Given the description of an element on the screen output the (x, y) to click on. 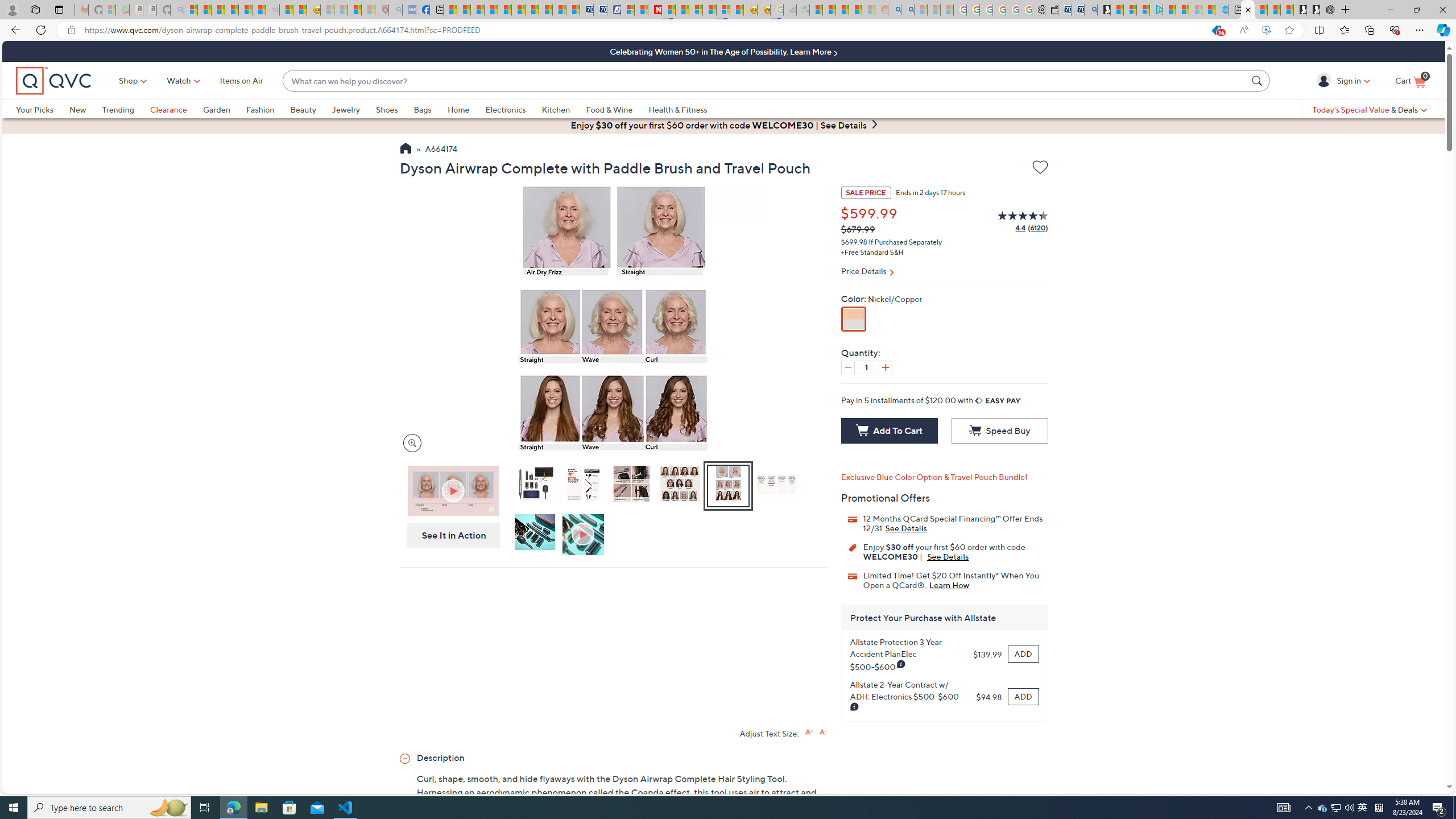
New (76, 109)
Bags (429, 109)
QVC home (53, 80)
Search Submit (1258, 80)
Price Details (944, 272)
